Given the description of an element on the screen output the (x, y) to click on. 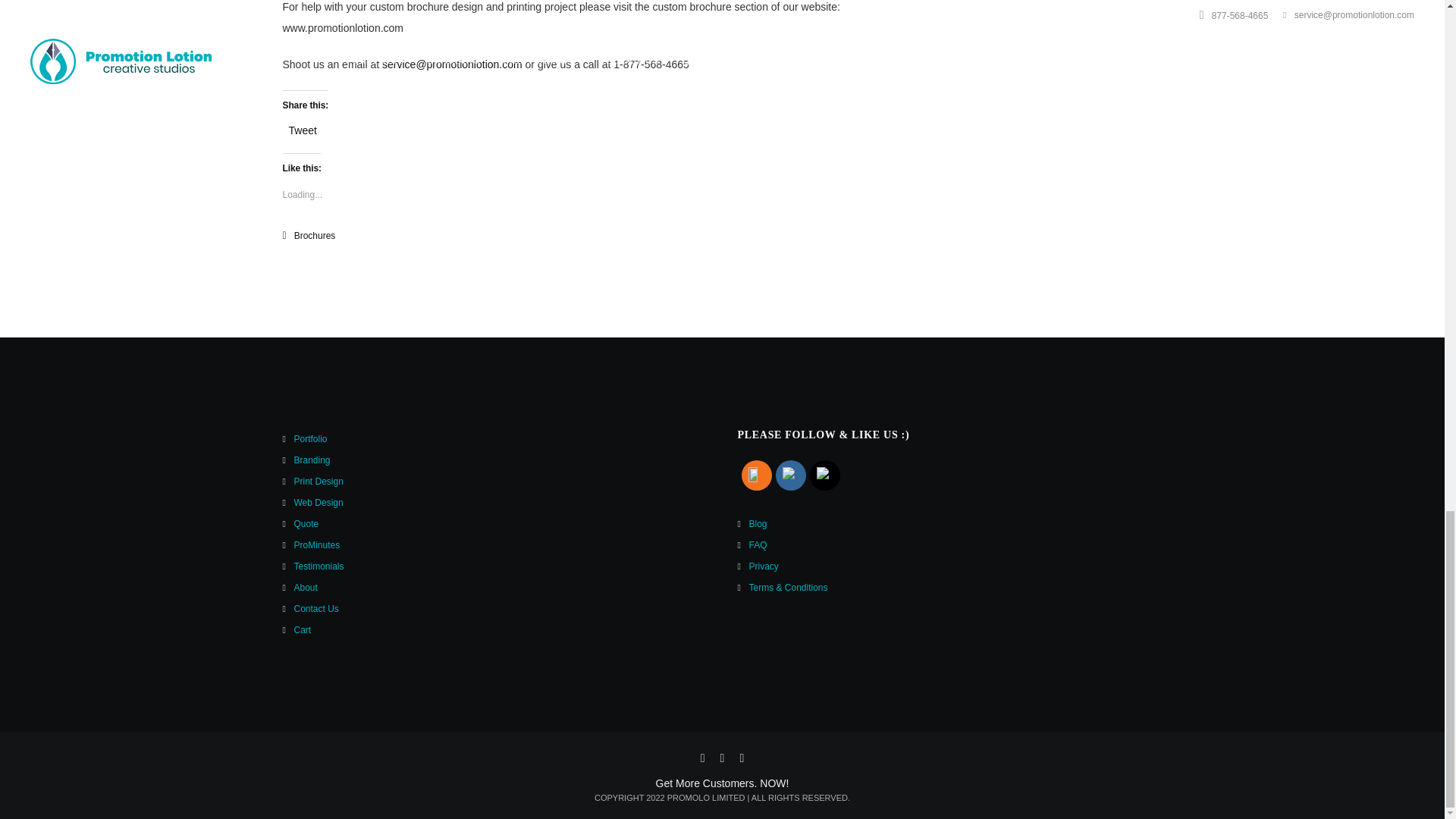
Branding (312, 459)
Twitter (823, 475)
Portfolio (310, 438)
Print Design (318, 480)
Brochures (315, 235)
Facebook (791, 475)
